Given the description of an element on the screen output the (x, y) to click on. 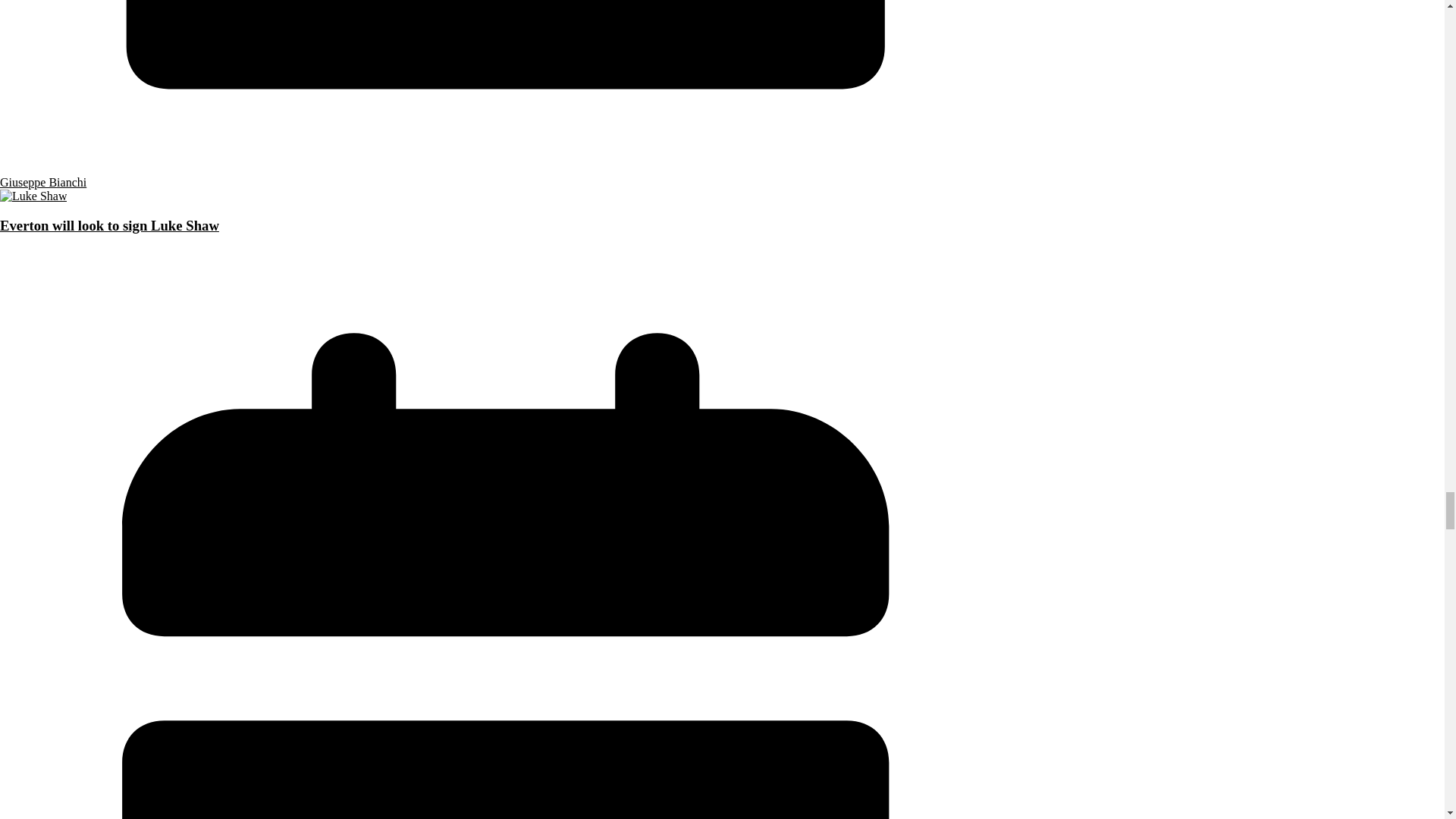
Giuseppe Bianchi (42, 182)
Everton will look to sign Luke Shaw (33, 195)
Everton will look to sign Luke Shaw (109, 225)
